Given the description of an element on the screen output the (x, y) to click on. 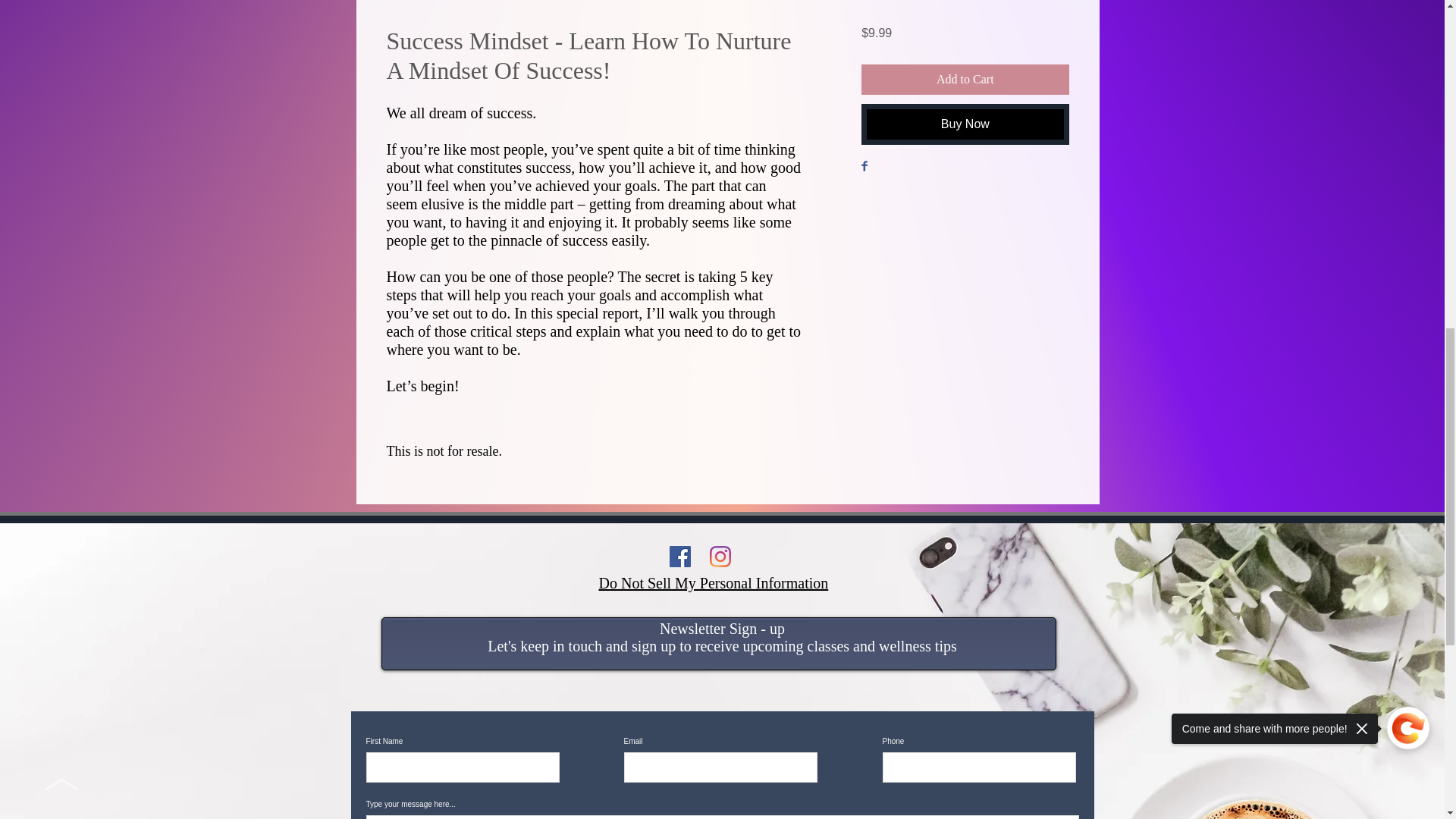
Do Not Sell My Personal Information (713, 582)
Buy Now (964, 124)
Add to Cart (964, 79)
